Given the description of an element on the screen output the (x, y) to click on. 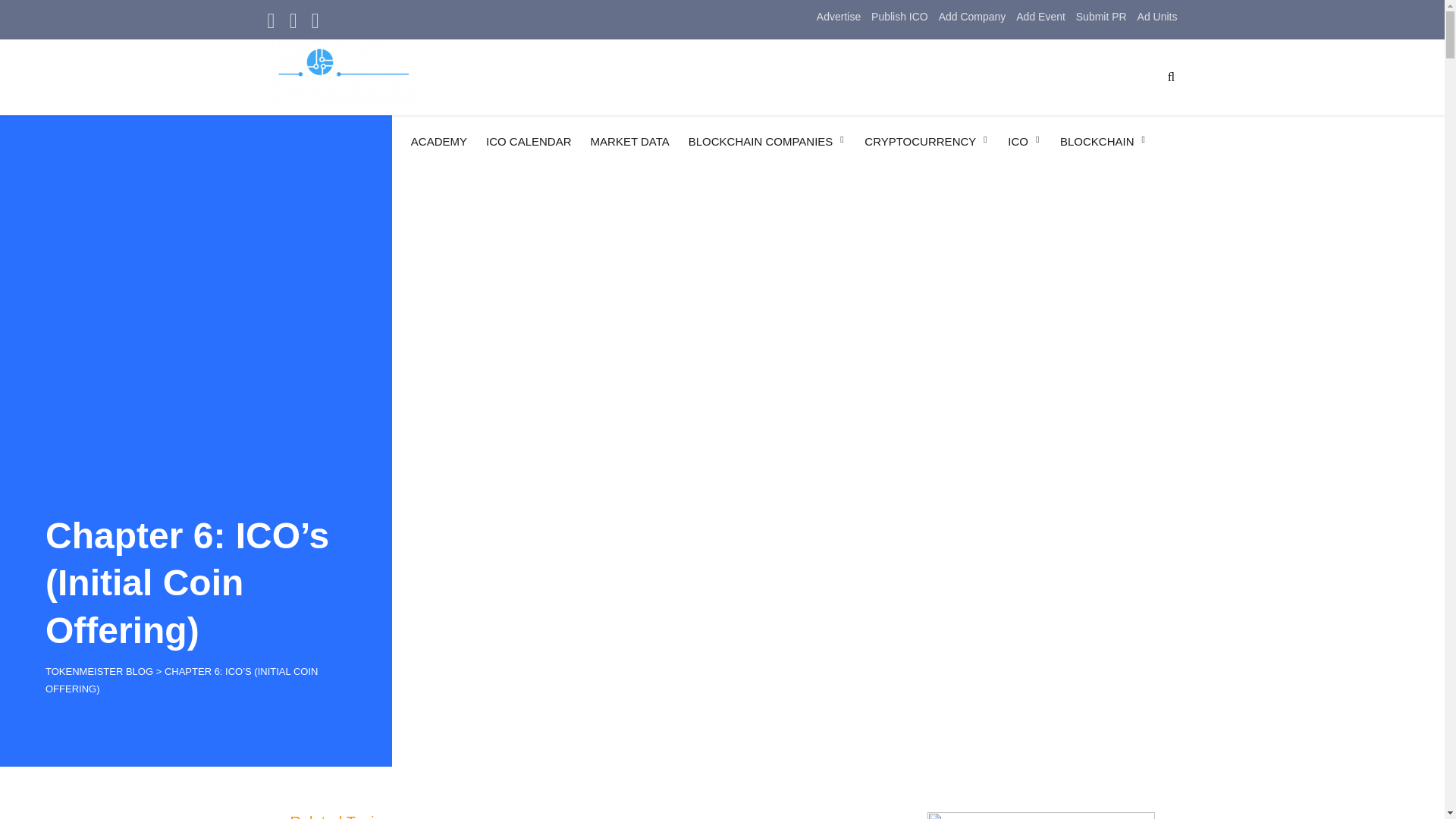
MARKET DATA (630, 142)
Submit PR (1100, 16)
Advertise (838, 16)
Go to TokenMeister Blog. (98, 671)
Add Event (1040, 16)
Ad Units (1157, 16)
ACADEMY (438, 142)
ICO CALENDAR (529, 142)
BLOCKCHAIN COMPANIES (766, 141)
CRYPTOCURRENCY (926, 141)
Add Company (972, 16)
ICO (1024, 141)
Publish ICO (899, 16)
